Given the description of an element on the screen output the (x, y) to click on. 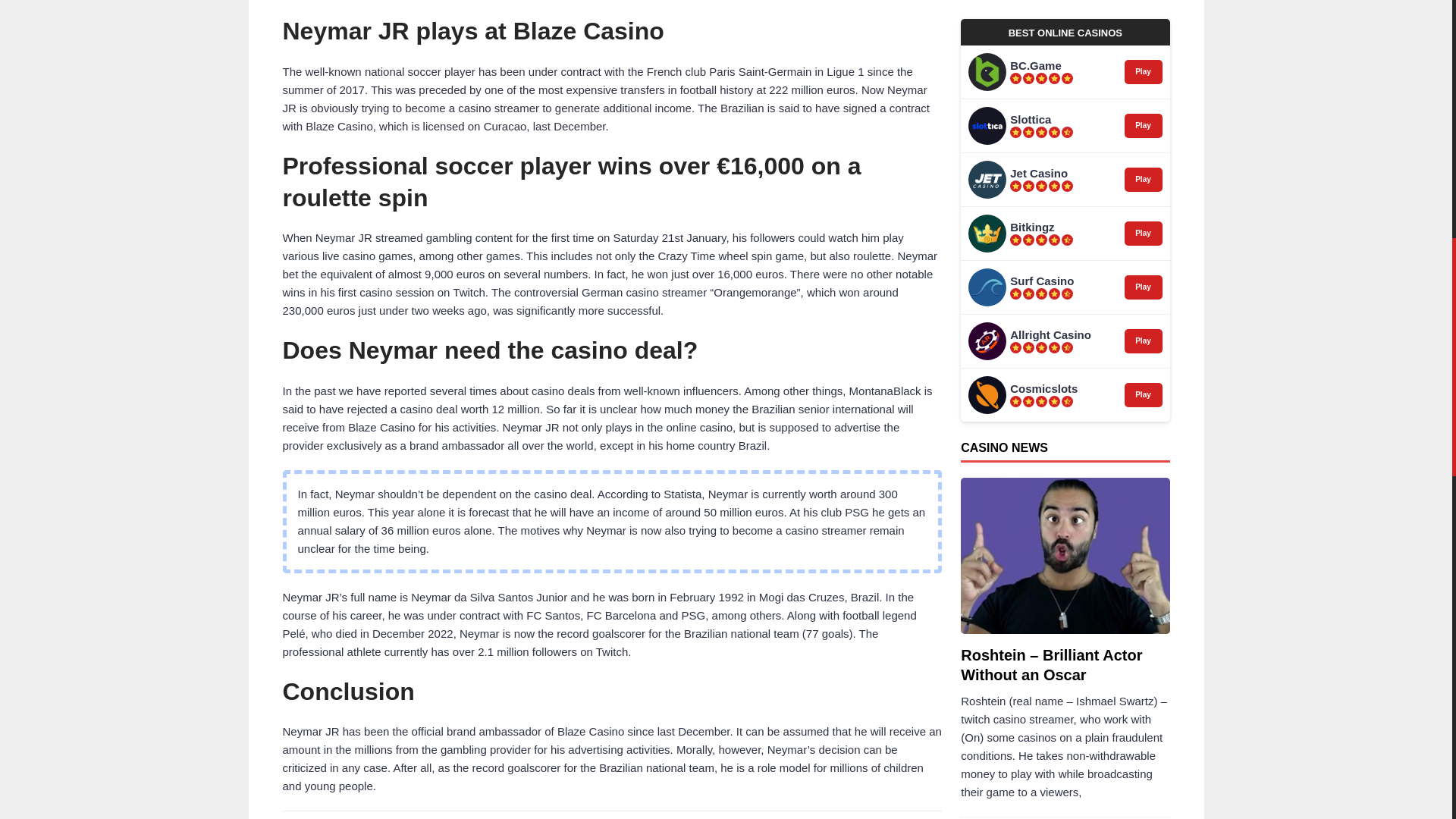
Articles by Kevin Rendel (975, 490)
Which online casinos are blacklisted? (991, 298)
Which online casinos are blacklisted? (1100, 290)
Articles by Kevin Rendel (1042, 479)
Gambling in Switzerland: online great, offline bad? (1100, 366)
Gambling in Switzerland: online great, offline bad? (991, 375)
Depositing with Bitcoin in the online casino (1095, 213)
Are online casinos at risk from AI fraud? (1089, 137)
Depositing with Bitcoin in the online casino (991, 221)
Are online casinos at risk from AI fraud? (991, 145)
